Given the description of an element on the screen output the (x, y) to click on. 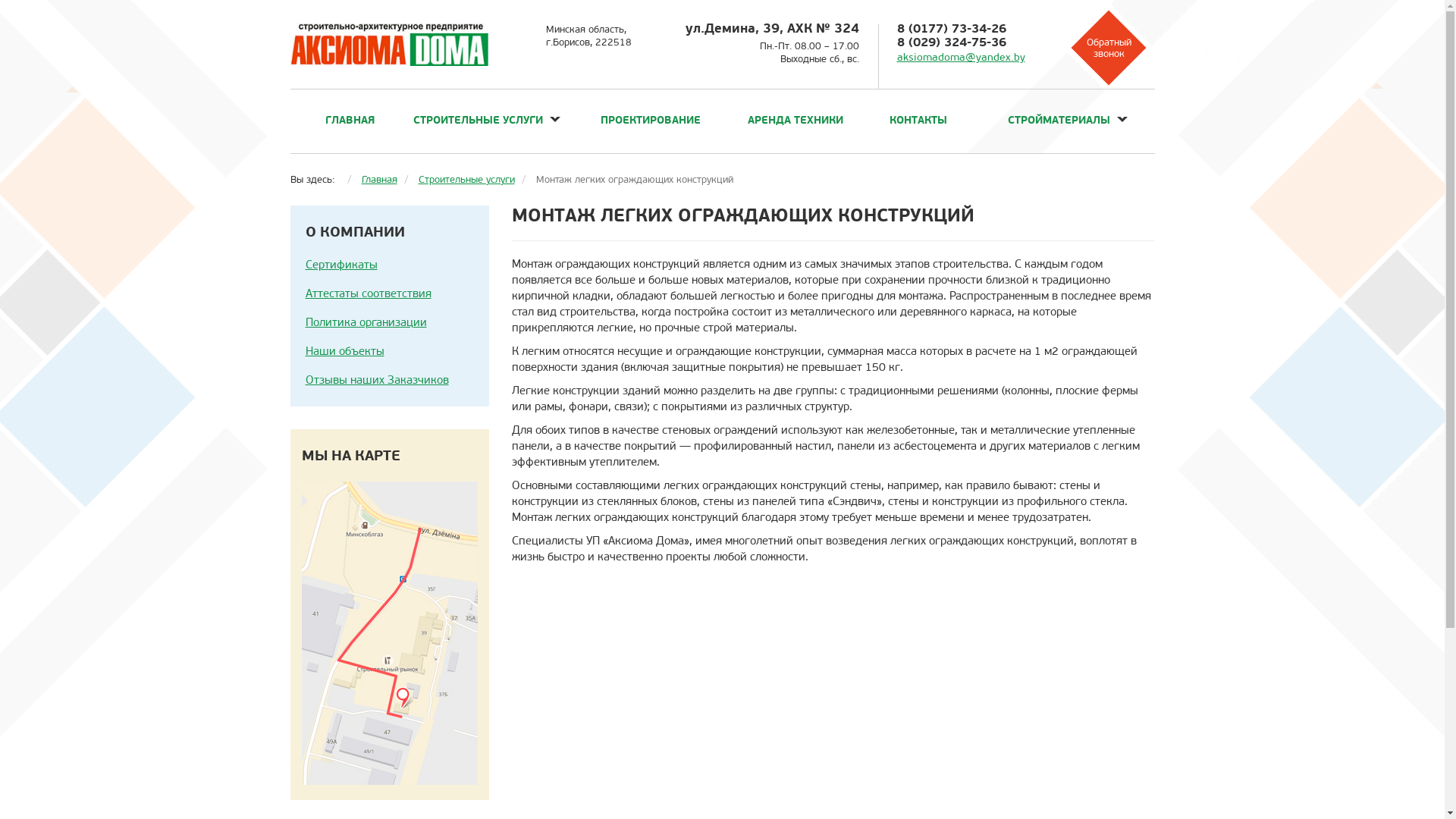
aksiomadoma@yandex.by Element type: text (960, 57)
